Given the description of an element on the screen output the (x, y) to click on. 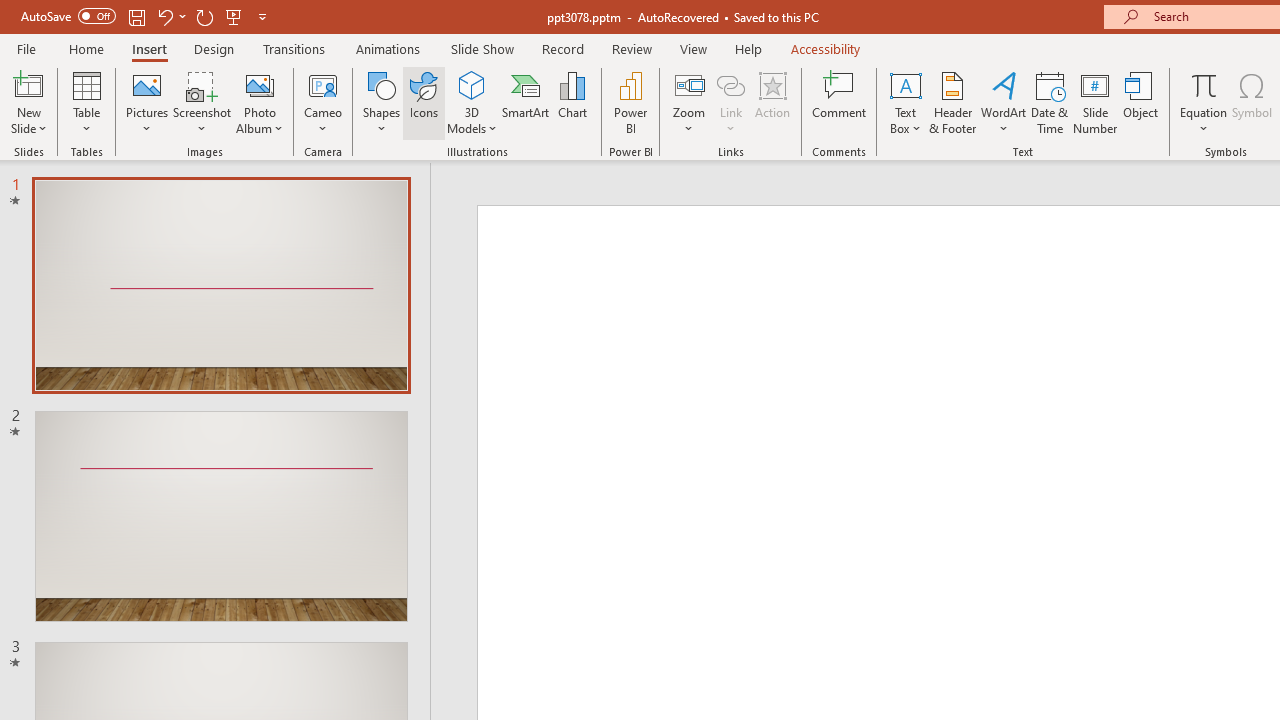
Comment (839, 102)
Power BI (630, 102)
Link (731, 102)
New Photo Album... (259, 84)
Slide Number (1095, 102)
SmartArt... (525, 102)
